Given the description of an element on the screen output the (x, y) to click on. 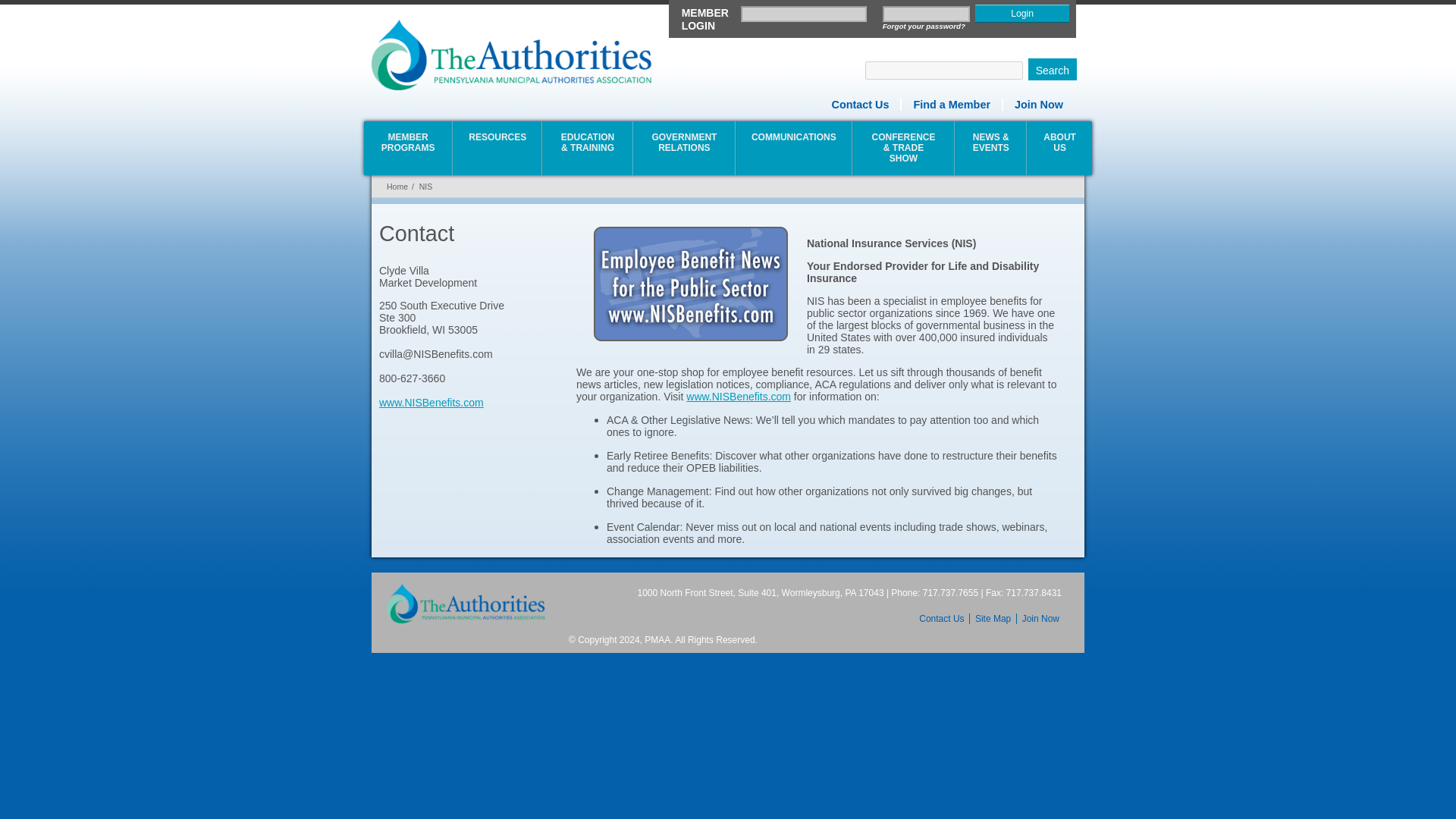
COMMUNICATIONS (793, 144)
RESOURCES (496, 144)
Login (1021, 13)
Search (1052, 69)
Forgot your password? (925, 26)
Contact Us (855, 104)
Join Now (1034, 104)
Login (1021, 13)
Search (1052, 69)
MEMBER PROGRAMS (407, 144)
